Given the description of an element on the screen output the (x, y) to click on. 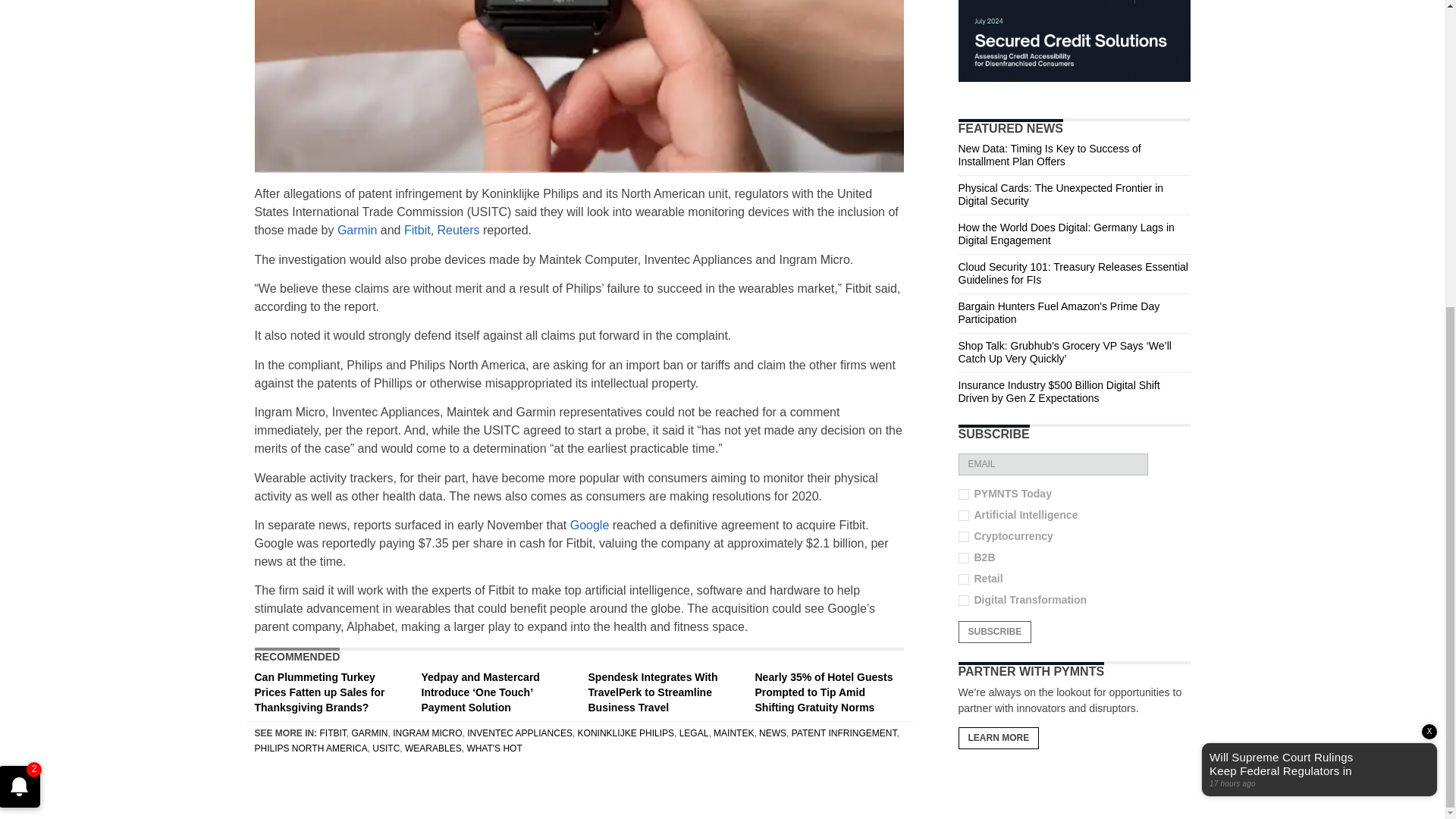
1 (963, 557)
1 (963, 514)
1 (963, 493)
1 (963, 578)
1 (963, 599)
1 (963, 535)
